Given the description of an element on the screen output the (x, y) to click on. 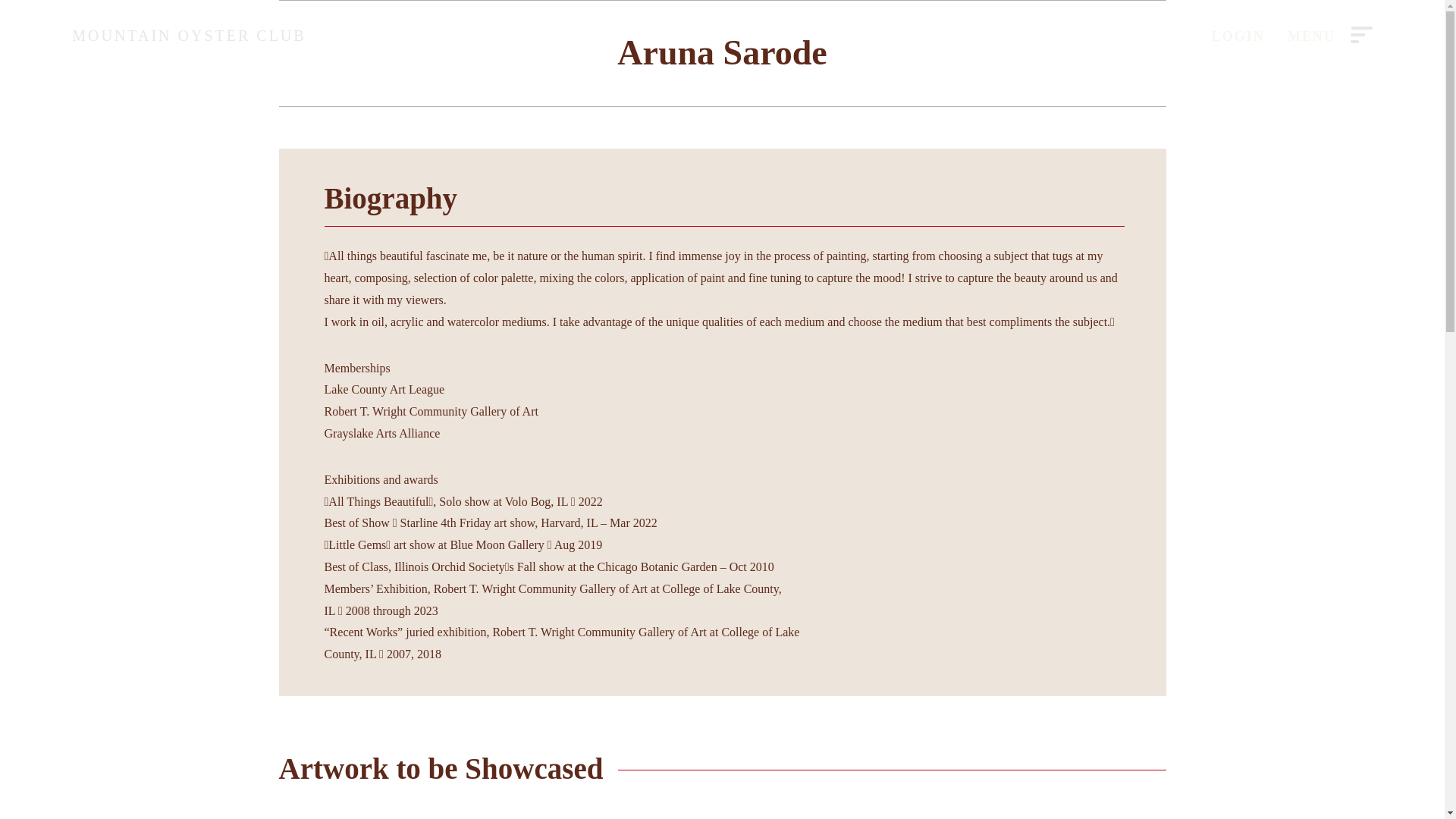
LOGIN (1238, 36)
MOUNTAIN OYSTER CLUB (188, 35)
